Given the description of an element on the screen output the (x, y) to click on. 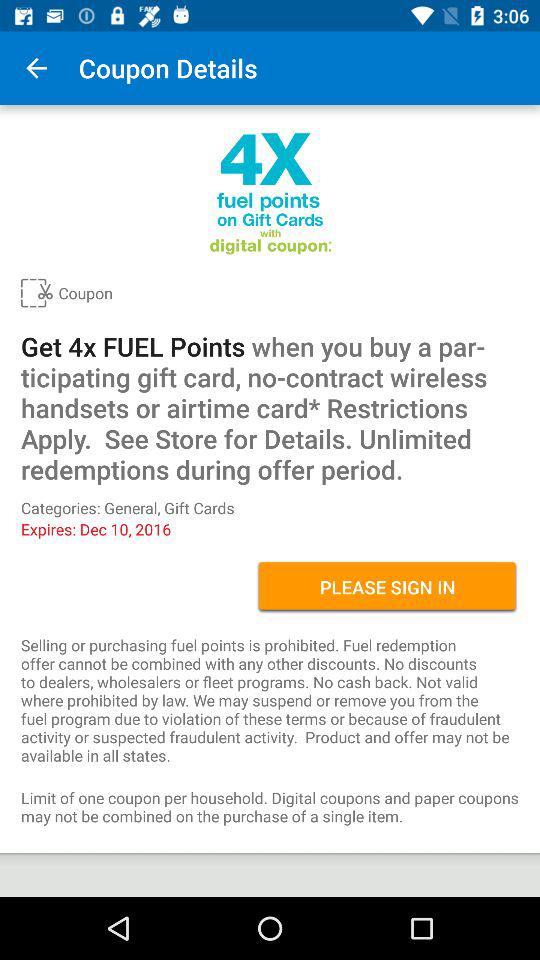
launch icon above coupon item (36, 68)
